Given the description of an element on the screen output the (x, y) to click on. 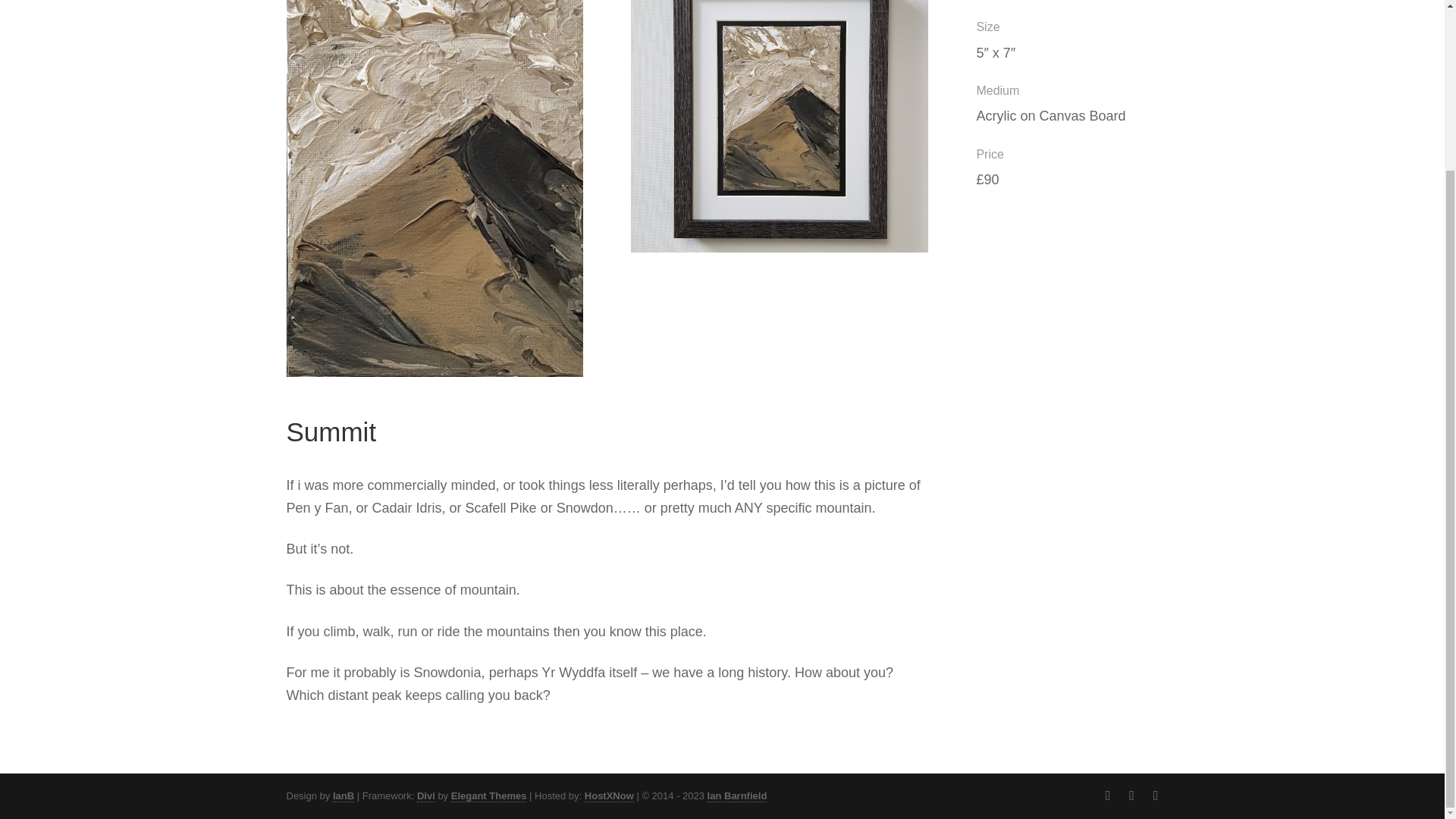
Blazing Fast and Reliable UK based hosting (609, 796)
Premium WordPress Themes (489, 796)
All Rights Reserved - please ask if you want to use it (737, 796)
Elegant Themes (489, 796)
Divi (425, 796)
IanB (343, 796)
HostXNow (609, 796)
Summit - framed (779, 252)
Creative excellence and senseless beauty (343, 796)
Ian Barnfield (737, 796)
